Given the description of an element on the screen output the (x, y) to click on. 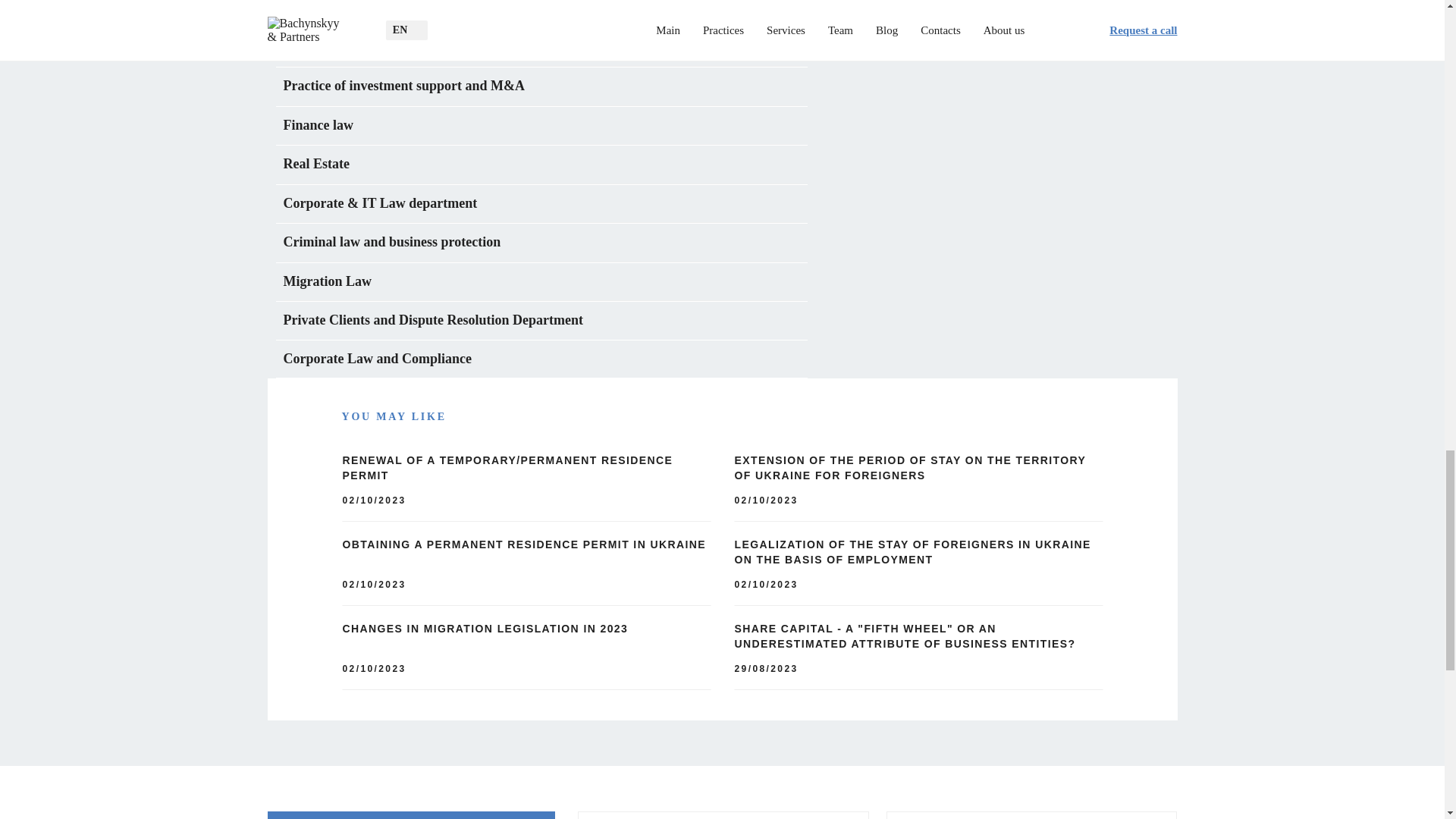
Finance law (541, 126)
Migration Law (541, 282)
Private Clients and Dispute Resolution Department (541, 320)
Corporate Law and Compliance (541, 359)
Real Estate (541, 164)
LEGAL SERVICES FOR IT COMPANIES (541, 13)
Criminal law and business protection (541, 242)
CONSULTATIONS ON PUBLIC PROCUREMENT (541, 47)
